Given the description of an element on the screen output the (x, y) to click on. 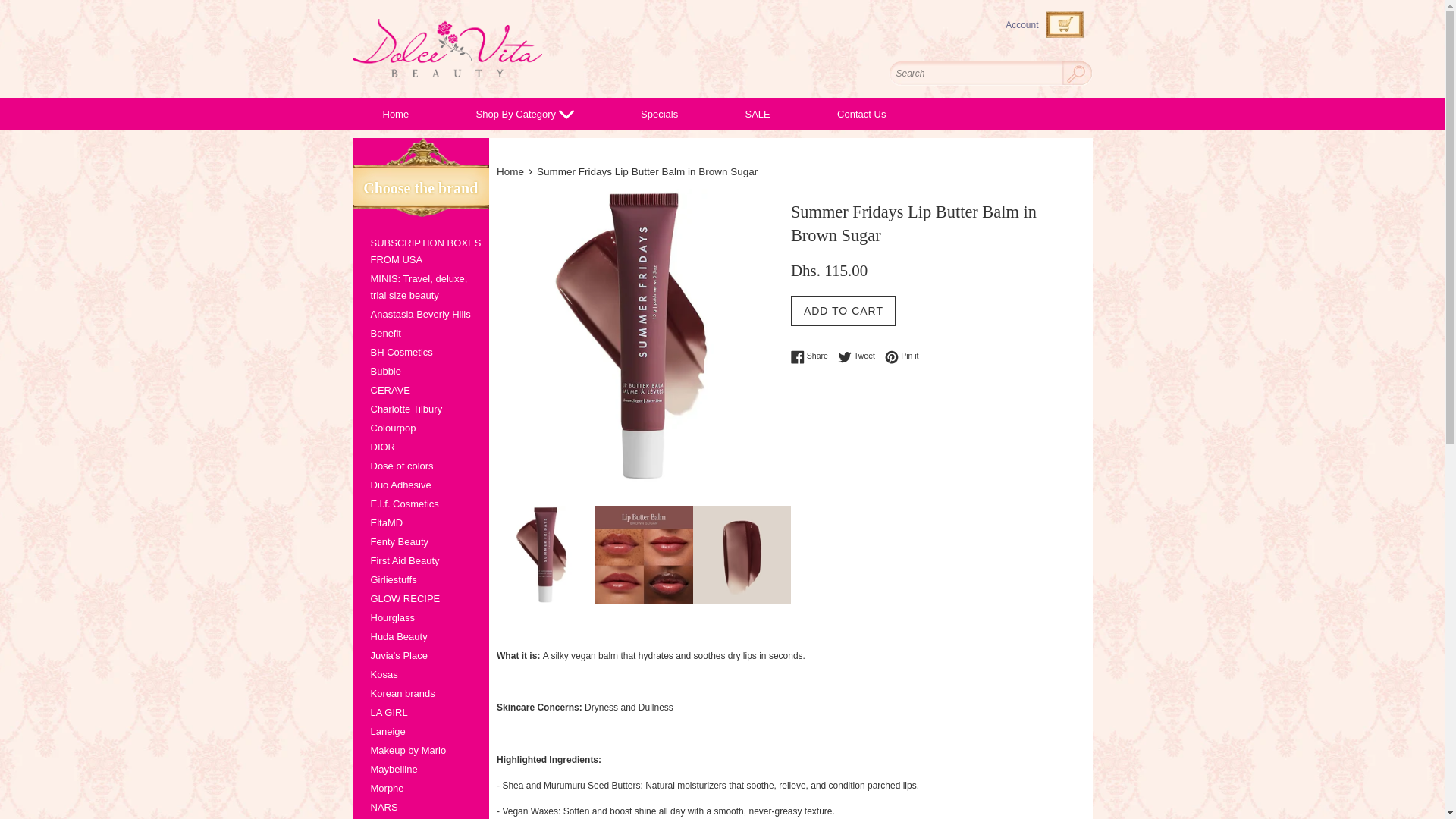
Specials (658, 113)
Dose of colors (420, 466)
Back to the frontpage (511, 171)
CERAVE (420, 390)
First Aid Beauty (420, 561)
SALE (756, 113)
SUBSCRIPTION BOXES FROM USA (420, 252)
Girliestuffs (420, 579)
MINIS: Travel, deluxe, trial size beauty (420, 287)
Colourpop (420, 428)
